Given the description of an element on the screen output the (x, y) to click on. 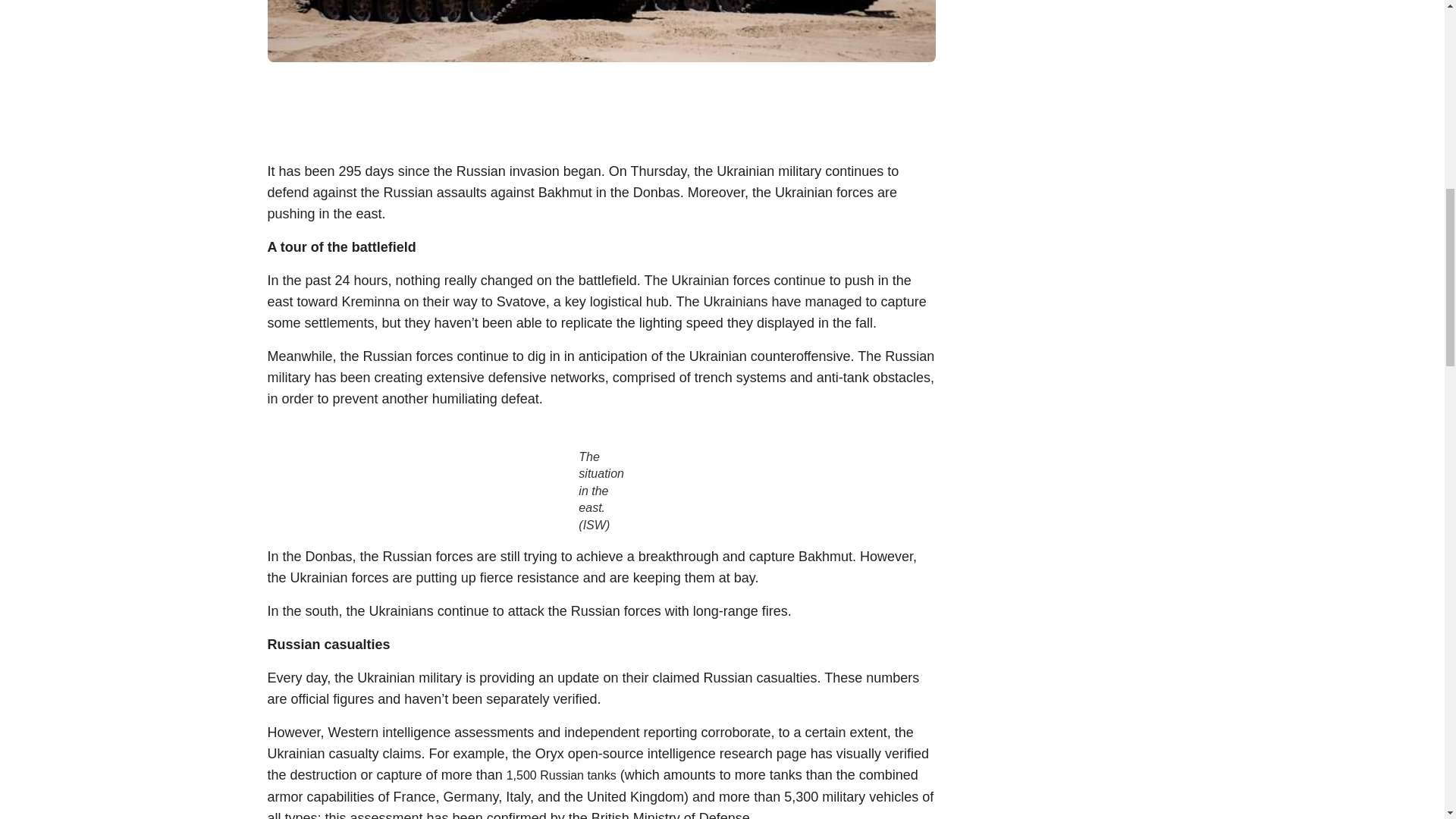
1,500 Russian tanks (560, 775)
